Given the description of an element on the screen output the (x, y) to click on. 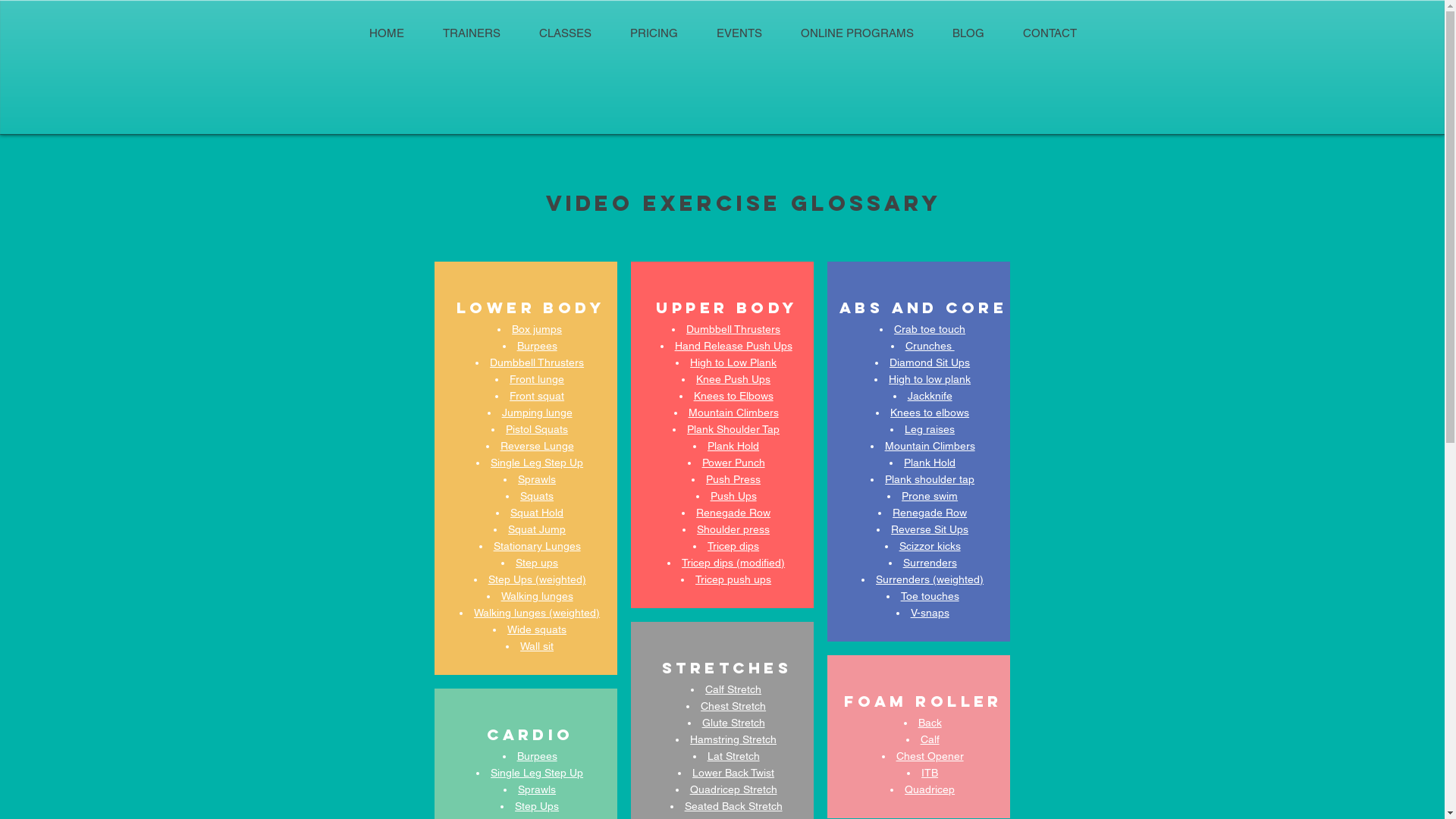
Push Press Element type: text (733, 478)
ONLINE PROGRAMS Element type: text (856, 33)
Wall sit Element type: text (536, 646)
Reverse Sit Ups Element type: text (929, 528)
Step Ups Element type: text (536, 806)
High to low plank Element type: text (929, 377)
Crunches  Element type: text (929, 344)
CLASSES Element type: text (565, 33)
Tricep dips Element type: text (733, 544)
ITB Element type: text (929, 771)
Renegade Row Element type: text (733, 511)
Mountain Climbers Element type: text (929, 444)
Reverse Lunge Element type: text (537, 445)
Plank Hold Element type: text (733, 444)
Squat Jump Element type: text (536, 529)
Knee Push Ups Element type: text (733, 377)
Burpees Element type: text (537, 755)
PRICING Element type: text (654, 33)
BLOG Element type: text (967, 33)
Dumbbell Thrusters Element type: text (733, 327)
Knees to elbows Element type: text (929, 411)
High to Low Plank Element type: text (733, 361)
Plank Hold Element type: text (929, 461)
Hamstring Stretch Element type: text (733, 738)
CONTACT Element type: text (1050, 33)
Glute Stretch Element type: text (733, 721)
Calf Element type: text (929, 738)
Single Leg Step Up Element type: text (536, 462)
Sprawls Element type: text (536, 789)
Single Leg Step Up Element type: text (536, 772)
Jackknife Element type: text (929, 394)
Plank Shoulder Tap Element type: text (733, 428)
Front squat Element type: text (536, 395)
Chest Stretch Element type: text (732, 704)
Power Punch Element type: text (733, 461)
Wide squats Element type: text (536, 629)
Squat Hold Element type: text (536, 512)
Leg raises Element type: text (929, 428)
Tricep push ups Element type: text (733, 578)
Surrenders Element type: text (930, 561)
V-snaps Element type: text (929, 611)
Jumping lunge Element type: text (537, 412)
Back Element type: text (929, 721)
Lat Stretch Element type: text (733, 754)
Burpees Element type: text (537, 345)
Plank shoulder tap Element type: text (929, 478)
Pistol Squats Element type: text (536, 429)
Seated Back Stretch Element type: text (733, 804)
Box jumps Element type: text (536, 329)
Step Ups (weighted) Element type: text (537, 579)
Walking lunges Element type: text (537, 595)
Stationary Lunges Element type: text (536, 545)
Hand Release Push Ups Element type: text (733, 344)
Mountain Climbers Element type: text (733, 411)
Dumbbell Thrusters Element type: text (536, 362)
Push Ups Element type: text (733, 494)
Toe touches Element type: text (929, 594)
HOME Element type: text (385, 33)
Chest Opener Element type: text (929, 754)
Step ups Element type: text (536, 562)
Lower Back Twist Element type: text (733, 771)
Sprawls Element type: text (536, 479)
Squats Element type: text (536, 495)
Quadricep Element type: text (929, 788)
Crab toe touch Element type: text (929, 327)
Diamond Sit Ups Element type: text (929, 361)
Tricep dips (modified) Element type: text (732, 561)
Surrenders (weighted) Element type: text (929, 578)
Calf Stretch Element type: text (733, 688)
Scizzor kicks Element type: text (929, 544)
Quadricep Stretch Element type: text (733, 788)
Shoulder press Element type: text (732, 528)
EVENTS Element type: text (739, 33)
TRAINERS Element type: text (471, 33)
Knees to Elbows Element type: text (733, 394)
Walking lunges (weighted) Element type: text (536, 612)
Front lunge Element type: text (536, 379)
Renegade Row Element type: text (929, 511)
Prone swim Element type: text (929, 494)
